Given the description of an element on the screen output the (x, y) to click on. 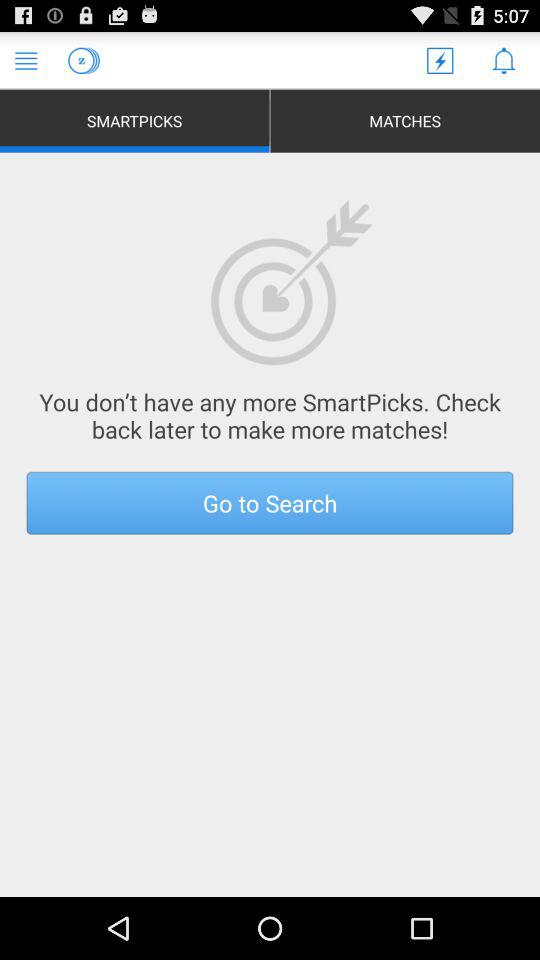
menu toggle (26, 60)
